Given the description of an element on the screen output the (x, y) to click on. 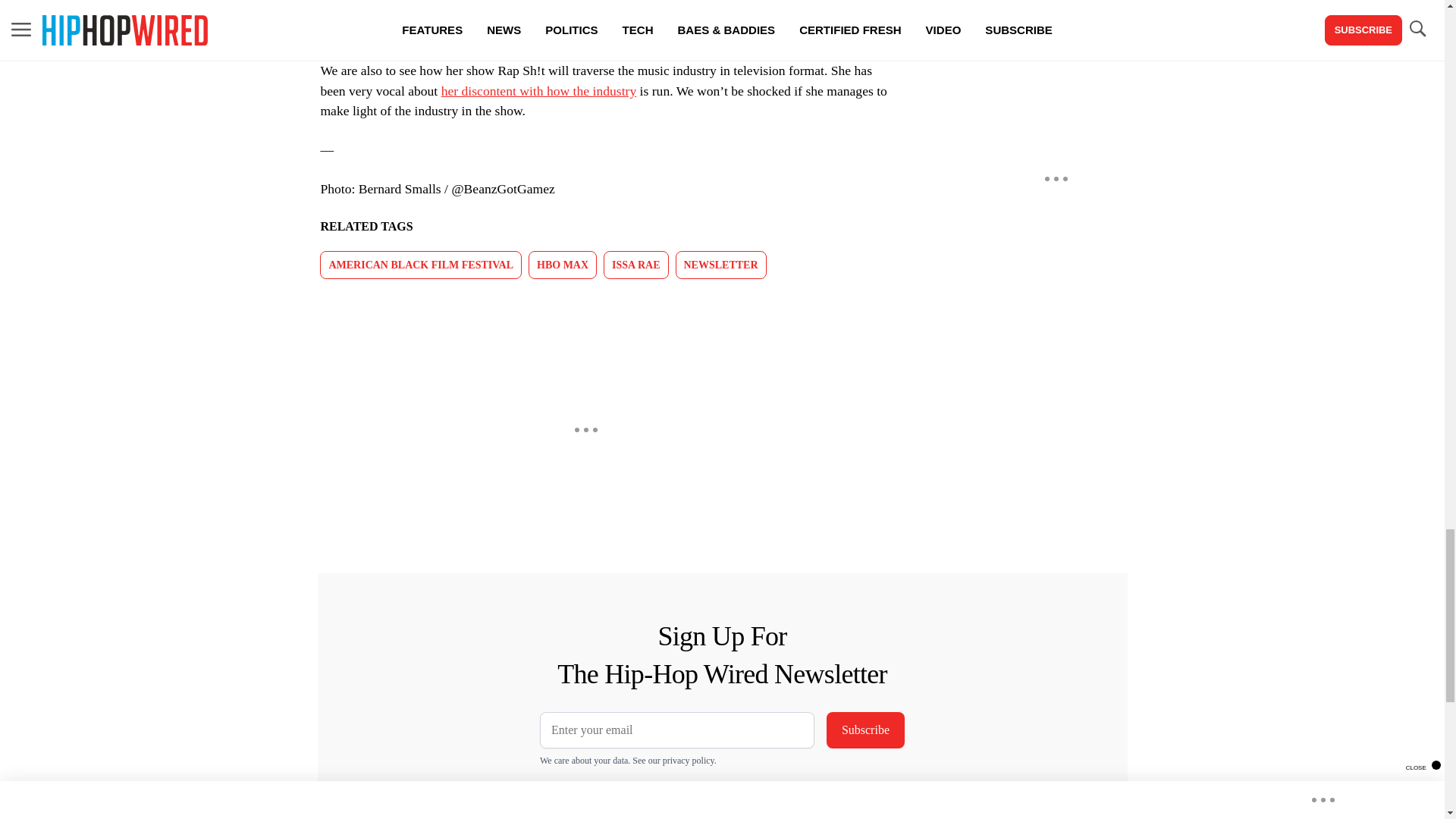
Spider-Man: Across The Spider-Verse (681, 31)
Subscribe (865, 729)
privacy policy (688, 760)
Sweet Life (641, 11)
NEWSLETTER (720, 264)
her discontent with how the industry (539, 90)
AMERICAN BLACK FILM FESTIVAL (420, 264)
ISSA RAE (636, 264)
HBO MAX (562, 264)
